Given the description of an element on the screen output the (x, y) to click on. 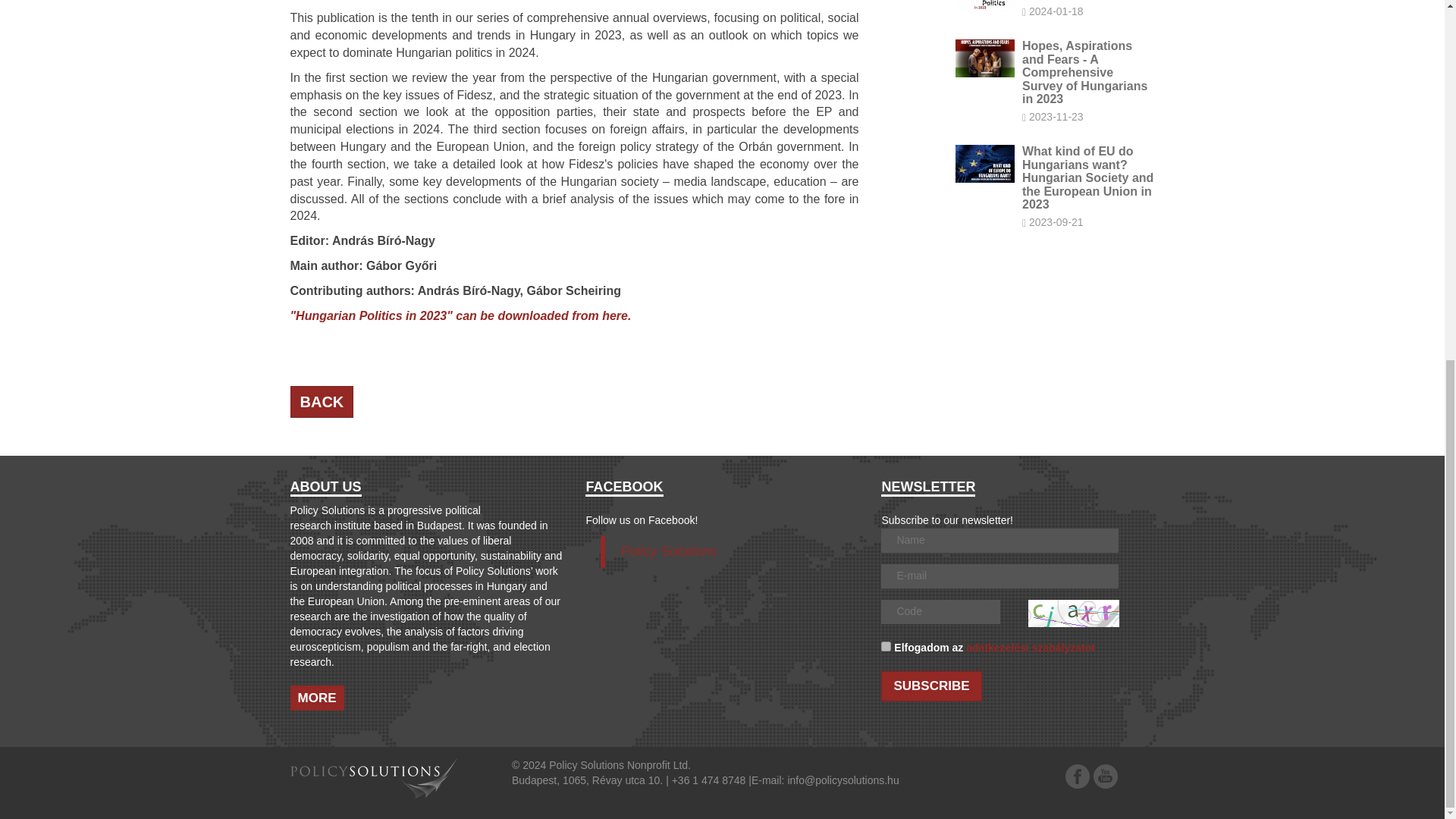
"Hungarian Politics in 2023" can be downloaded from here. (459, 315)
Subscribe (930, 685)
Policy Solutions (668, 550)
Subscribe (930, 685)
BACK (1054, 23)
MORE (321, 401)
